Given the description of an element on the screen output the (x, y) to click on. 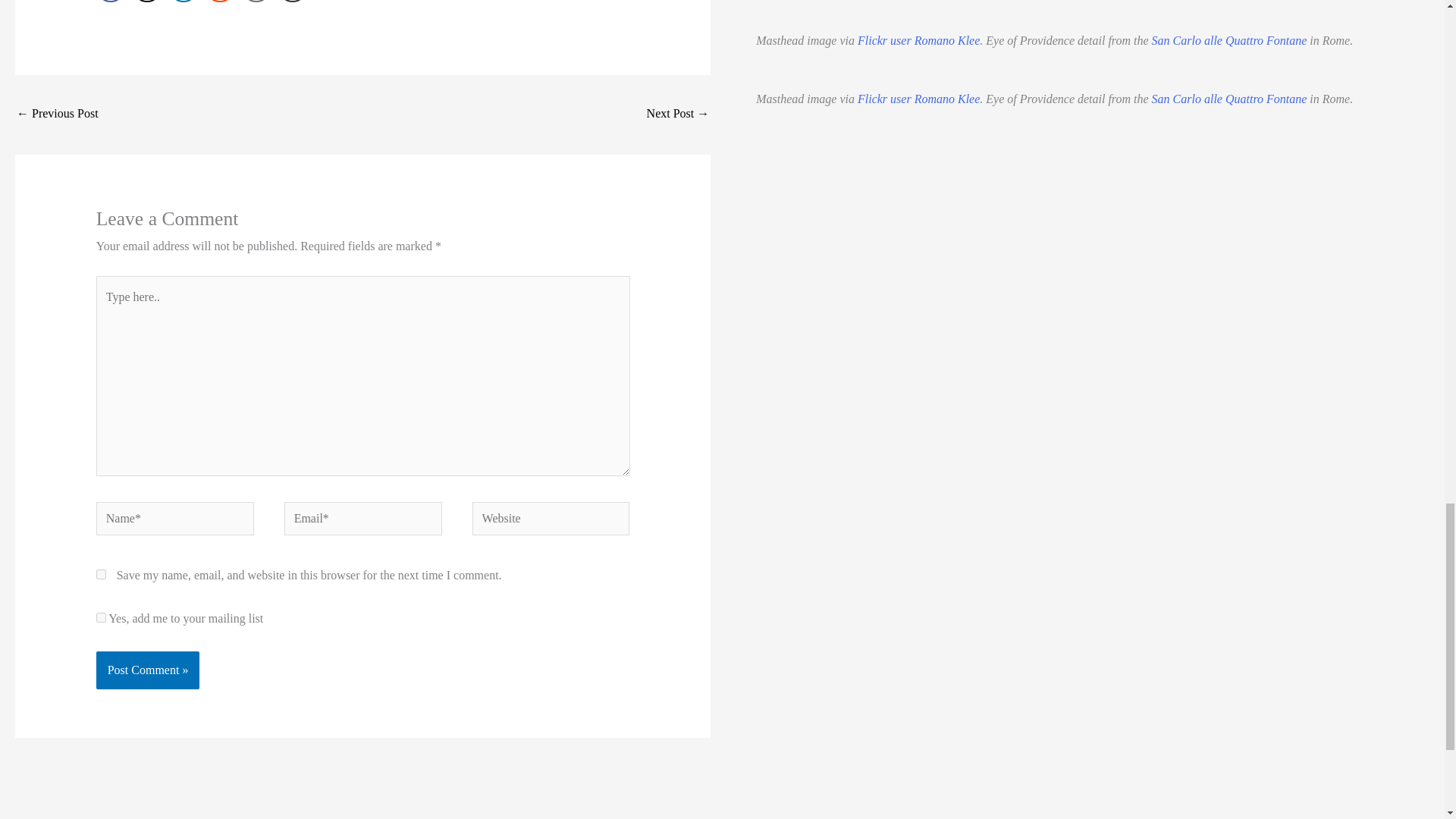
Weekend In Music (678, 114)
yes (101, 574)
0 (110, 1)
AS220 February Galleries (57, 114)
1 (101, 617)
